Given the description of an element on the screen output the (x, y) to click on. 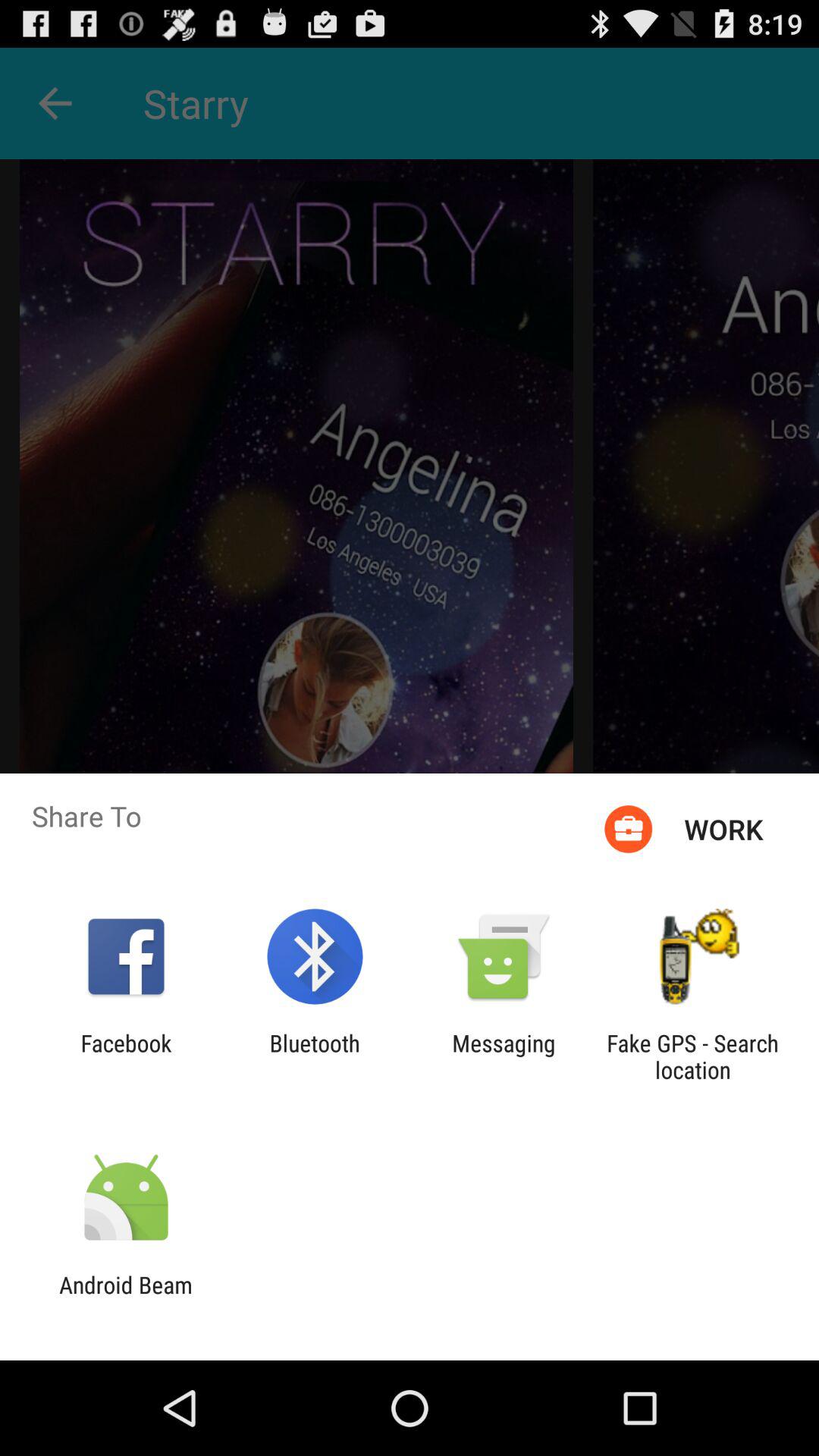
open android beam (125, 1298)
